Given the description of an element on the screen output the (x, y) to click on. 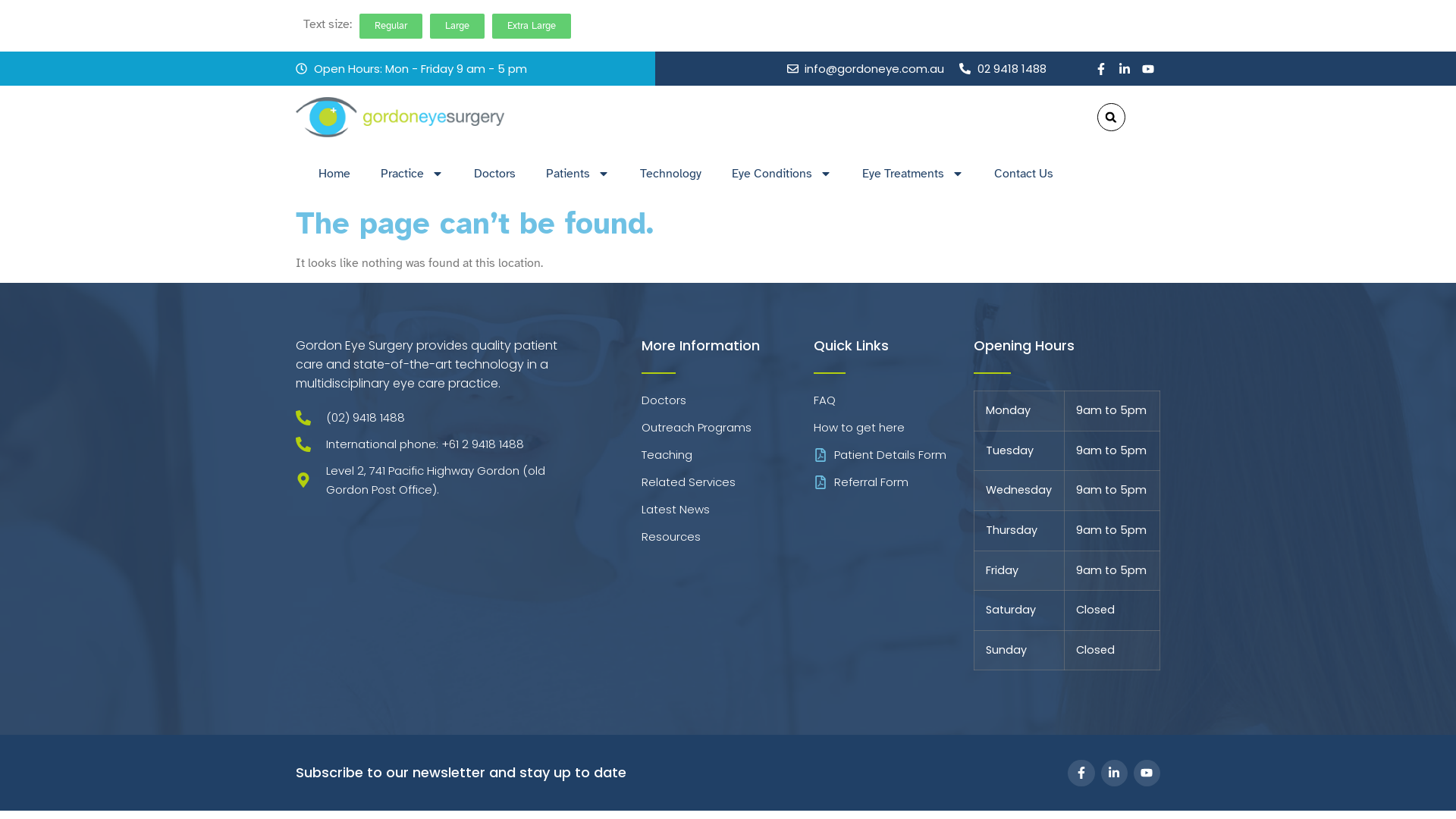
Practice Element type: text (411, 173)
Contact Us Element type: text (1023, 173)
Regular Element type: text (390, 25)
FAQ Element type: text (893, 400)
Extra Large Element type: text (531, 25)
Latest News Element type: text (727, 509)
Referral Form Element type: text (893, 482)
Patient Details Form Element type: text (893, 454)
Eye Treatments Element type: text (913, 173)
Home Element type: text (334, 173)
(02) 9418 1488 Element type: text (437, 416)
How to get here Element type: text (893, 427)
Eye Conditions Element type: text (781, 173)
Doctors Element type: text (727, 400)
Related Services Element type: text (727, 482)
Resources Element type: text (727, 536)
Teaching Element type: text (727, 454)
Outreach Programs Element type: text (727, 427)
Doctors Element type: text (494, 173)
Patients Element type: text (577, 173)
Technology Element type: text (670, 173)
Large Element type: text (456, 25)
